Given the description of an element on the screen output the (x, y) to click on. 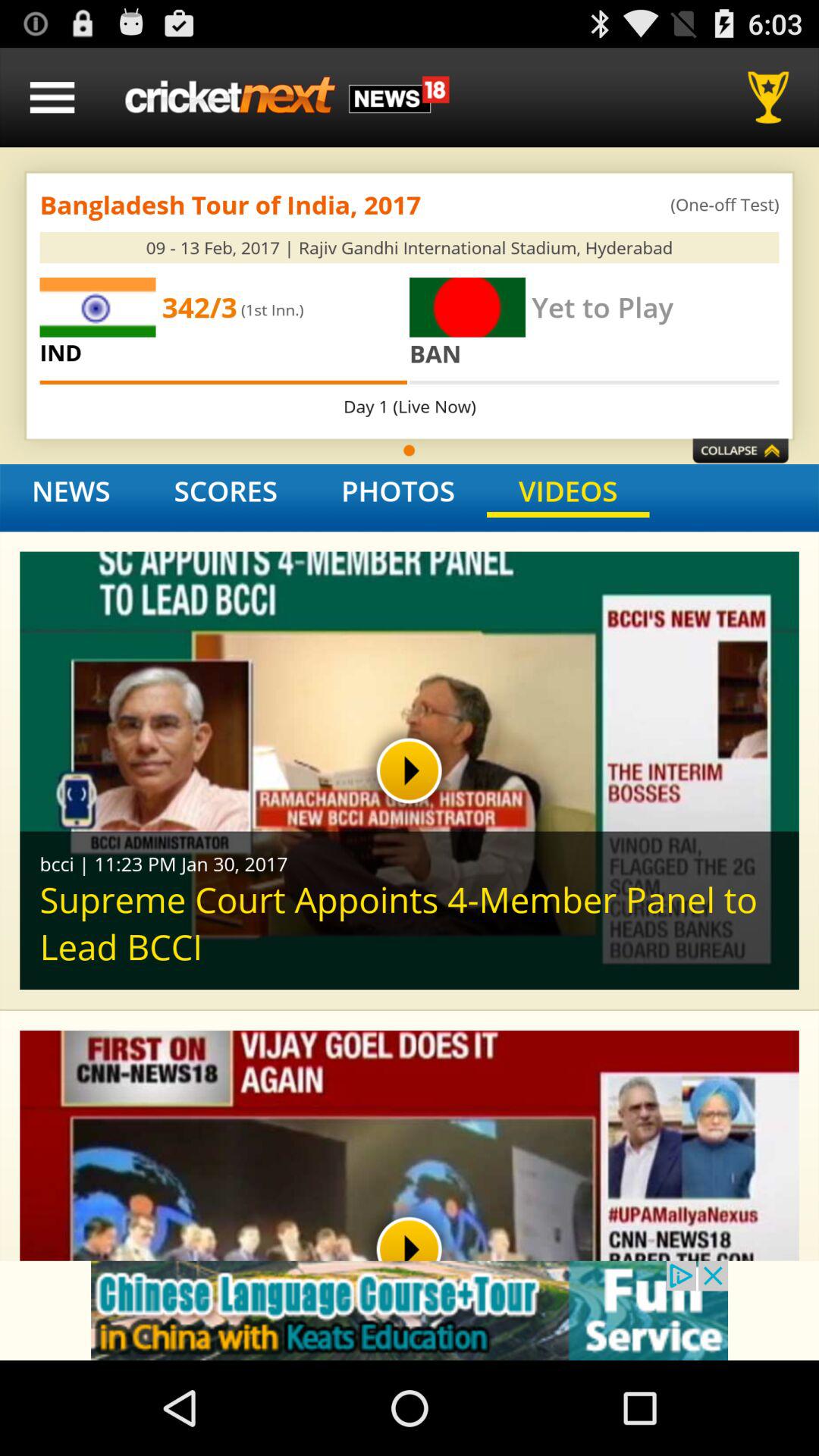
refresh homepage (286, 97)
